Given the description of an element on the screen output the (x, y) to click on. 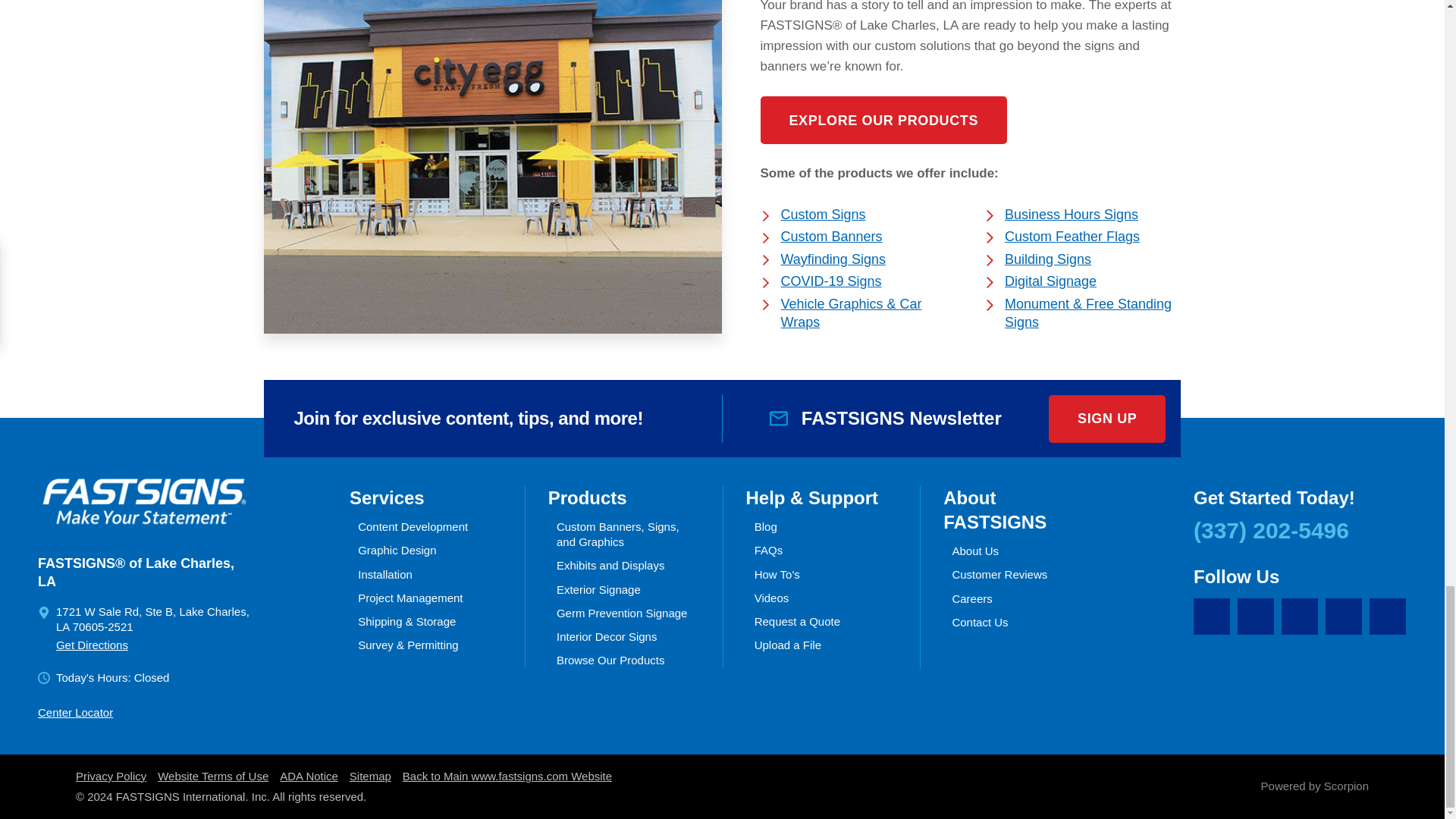
Facebook (1255, 616)
LinkedIn (1299, 616)
Career Link (1388, 616)
Instagram (1342, 616)
Google My Business (1211, 616)
